Given the description of an element on the screen output the (x, y) to click on. 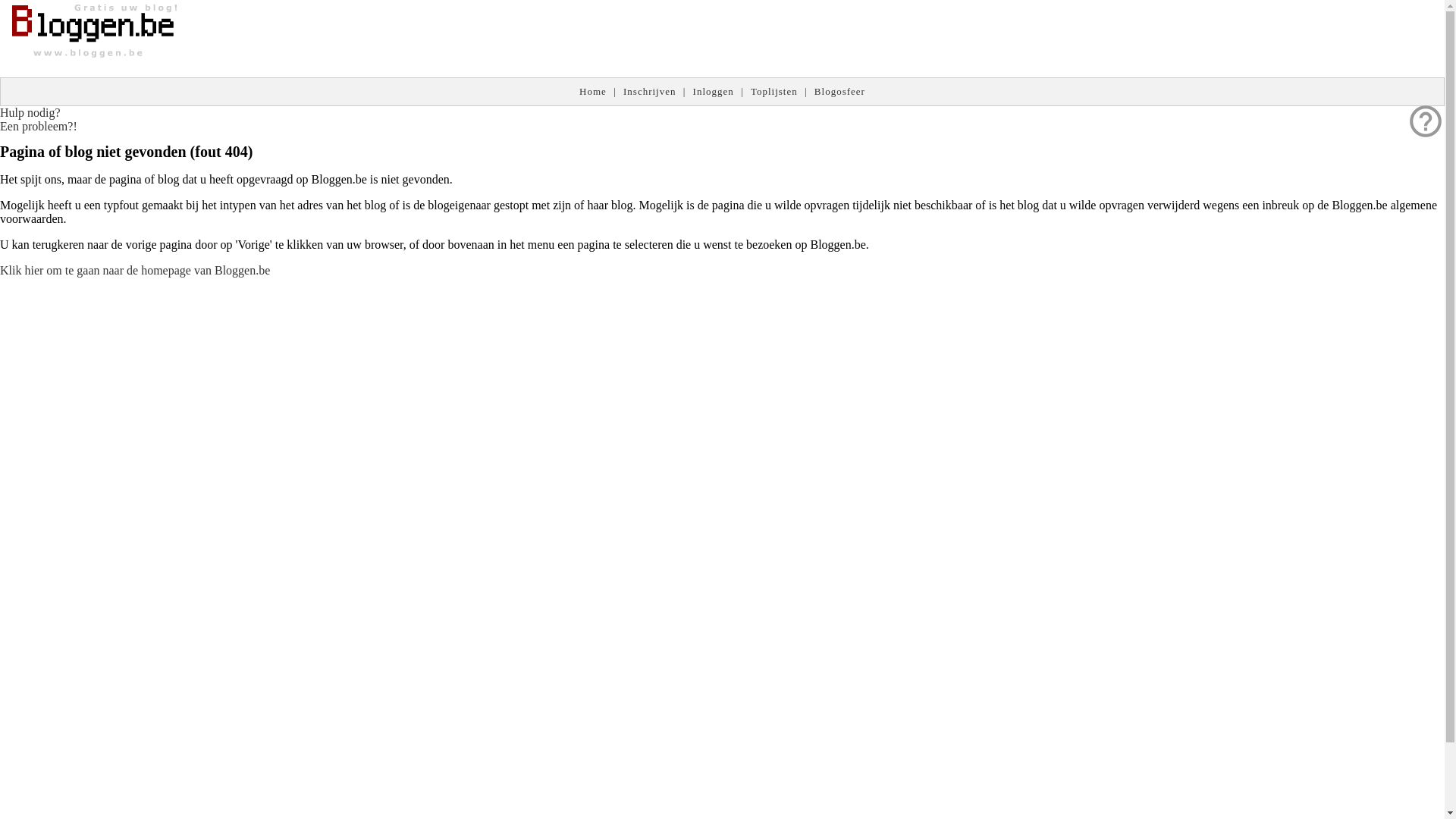
Inschrijven Element type: text (649, 91)
help_outline
Hulp nodig?
Een probleem?! Element type: text (38, 119)
Inloggen Element type: text (713, 91)
Toplijsten Element type: text (773, 91)
Blogosfeer Element type: text (839, 91)
Home Element type: text (592, 91)
Klik hier om te gaan naar de homepage van Bloggen.be Element type: text (134, 269)
